Given the description of an element on the screen output the (x, y) to click on. 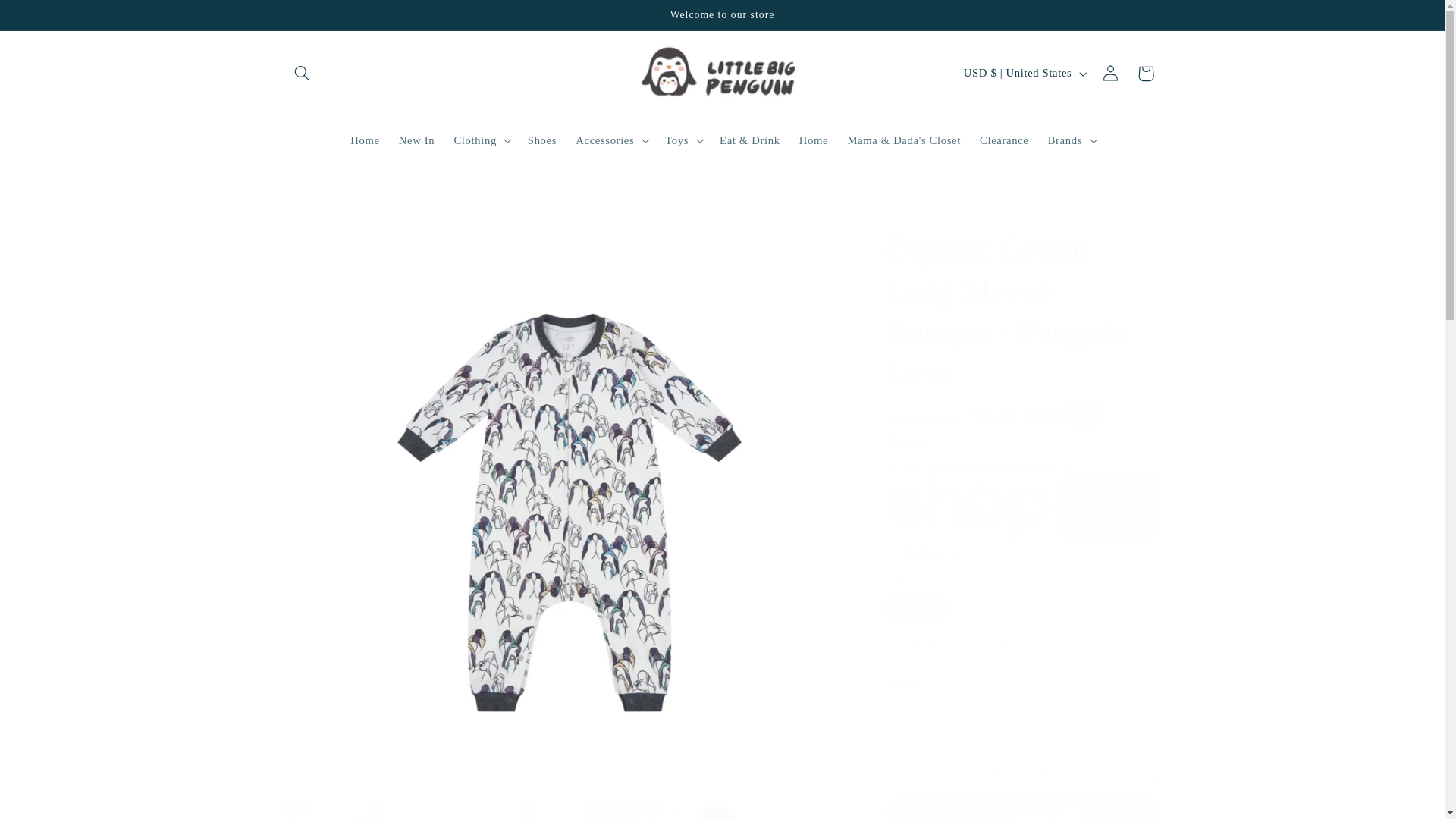
Open media 2 in modal (418, 810)
Skip to content (48, 18)
1 (939, 711)
Open media 3 in modal (718, 810)
